Given the description of an element on the screen output the (x, y) to click on. 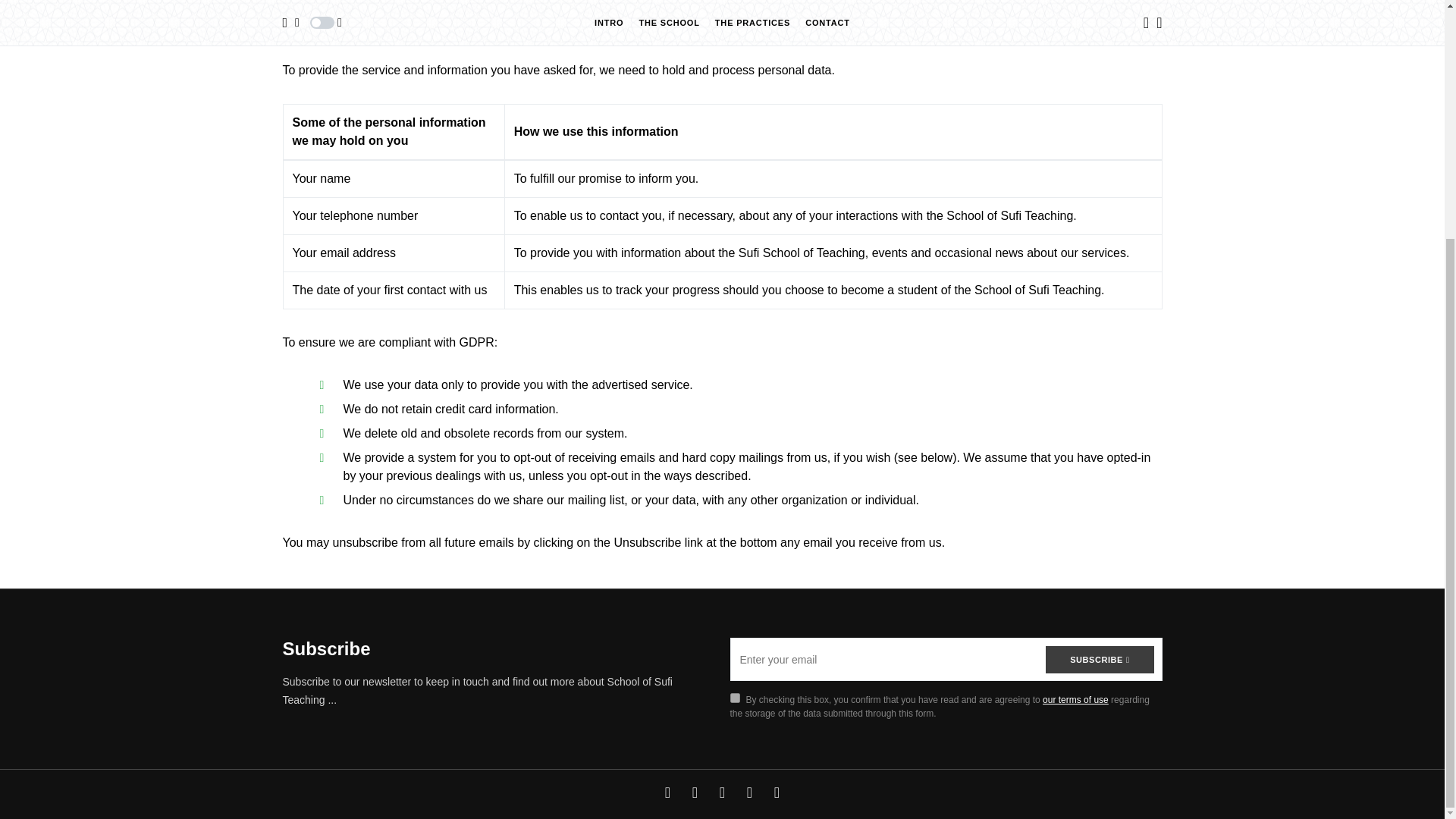
on (734, 697)
